Given the description of an element on the screen output the (x, y) to click on. 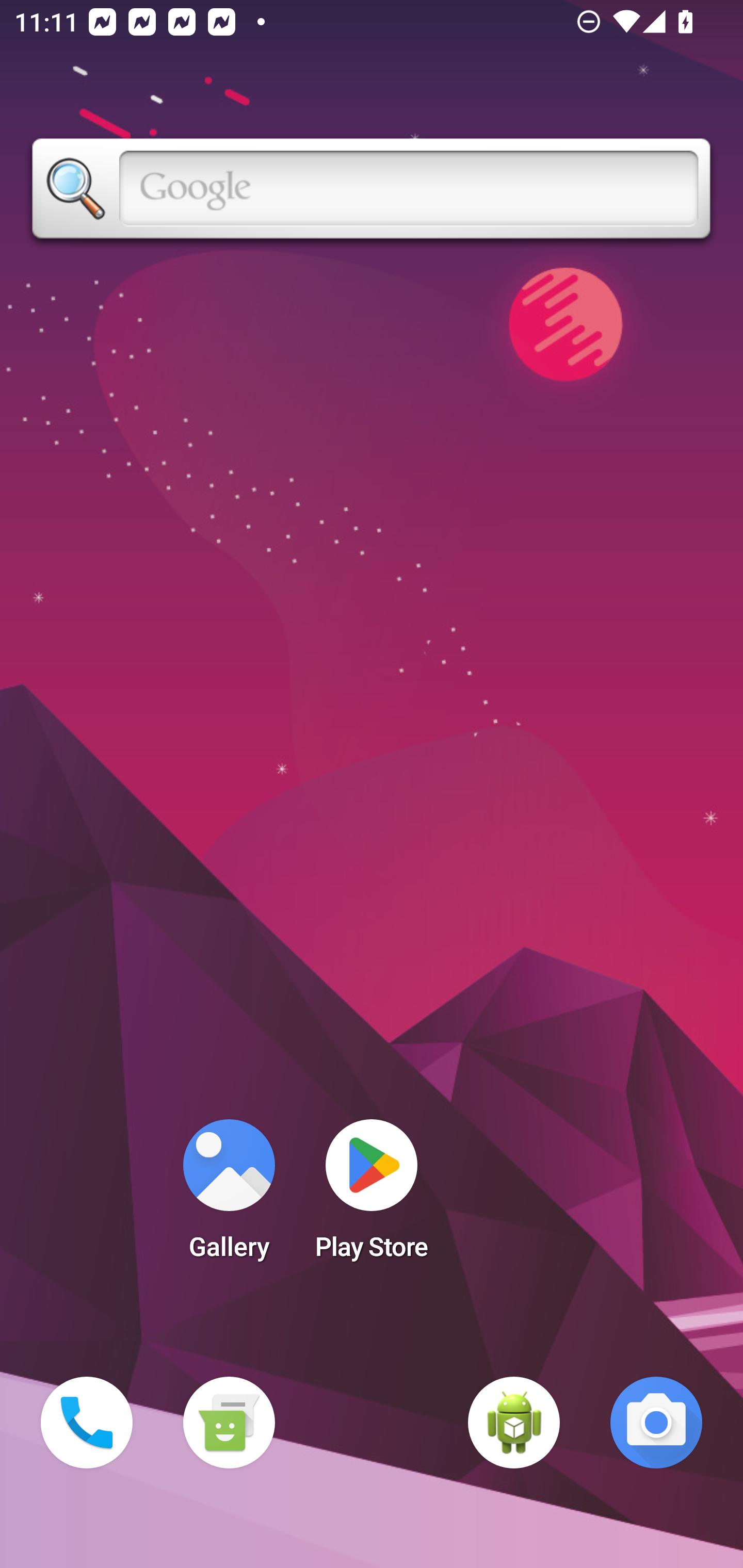
Gallery (228, 1195)
Play Store (371, 1195)
Phone (86, 1422)
Messaging (228, 1422)
WebView Browser Tester (513, 1422)
Camera (656, 1422)
